Given the description of an element on the screen output the (x, y) to click on. 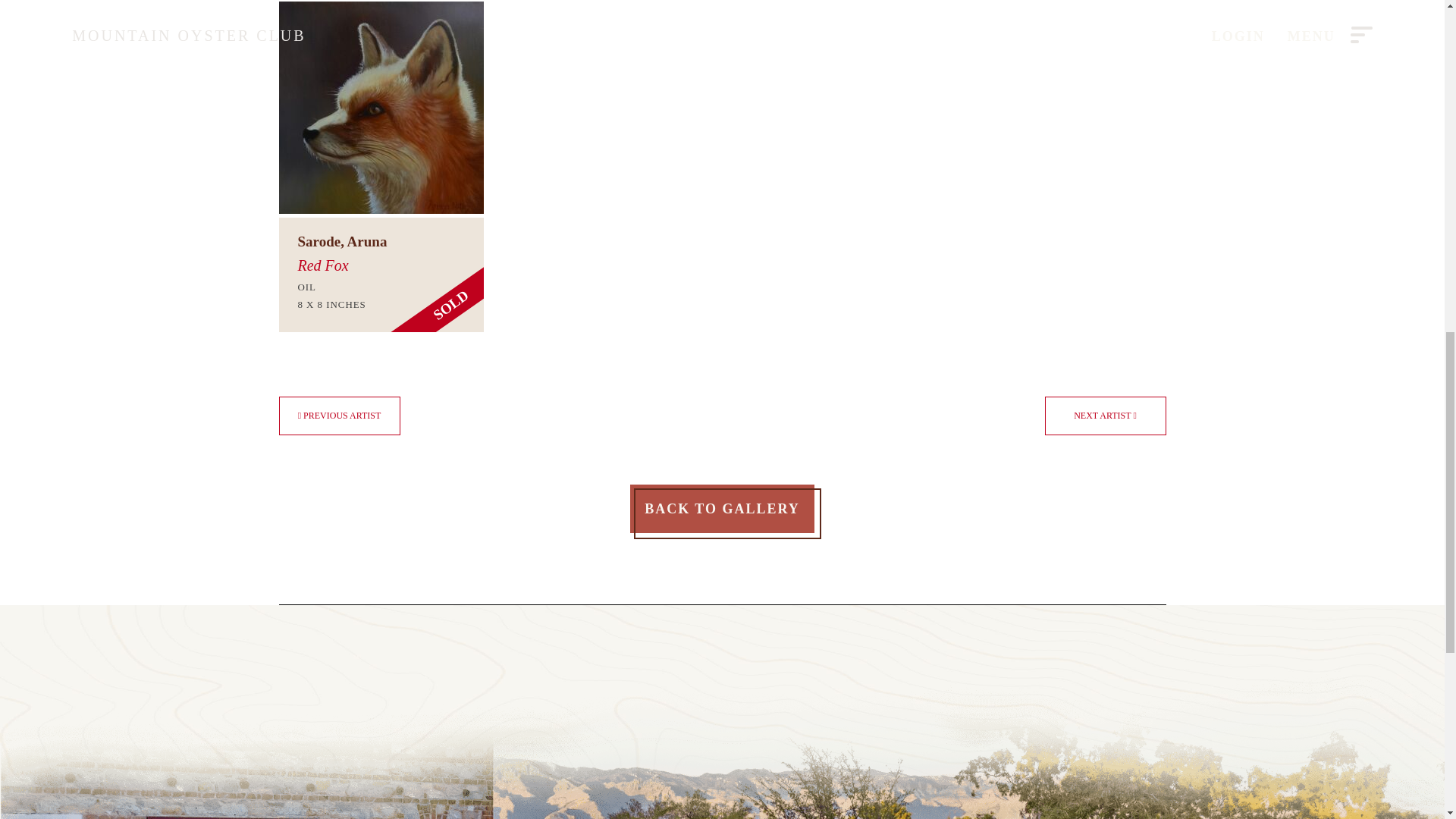
NEXT ARTIST (1105, 415)
BACK TO GALLERY (721, 508)
PREVIOUS ARTIST (339, 415)
